Given the description of an element on the screen output the (x, y) to click on. 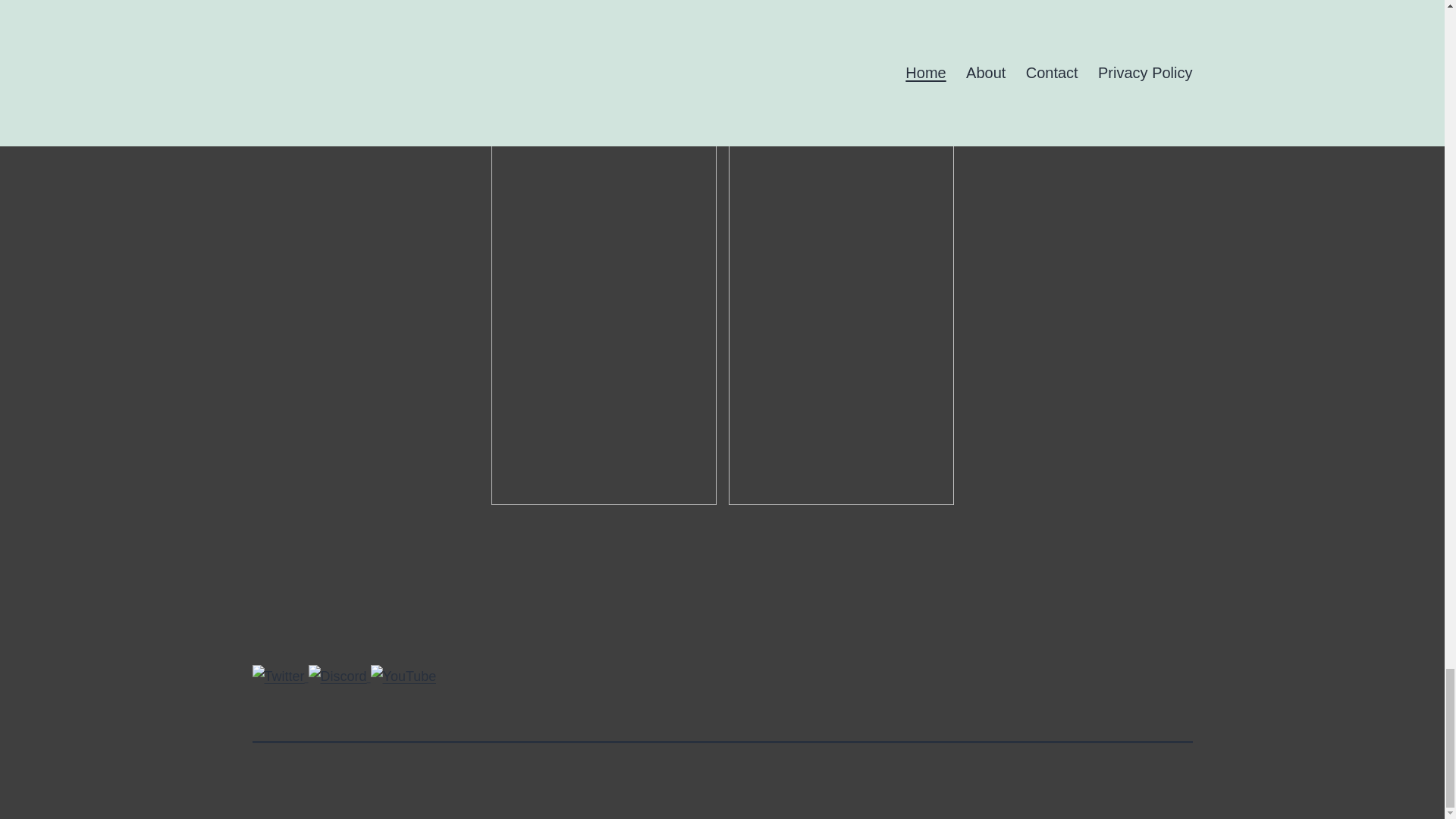
Discord (337, 676)
Twitter (277, 676)
YouTube (403, 676)
